Given the description of an element on the screen output the (x, y) to click on. 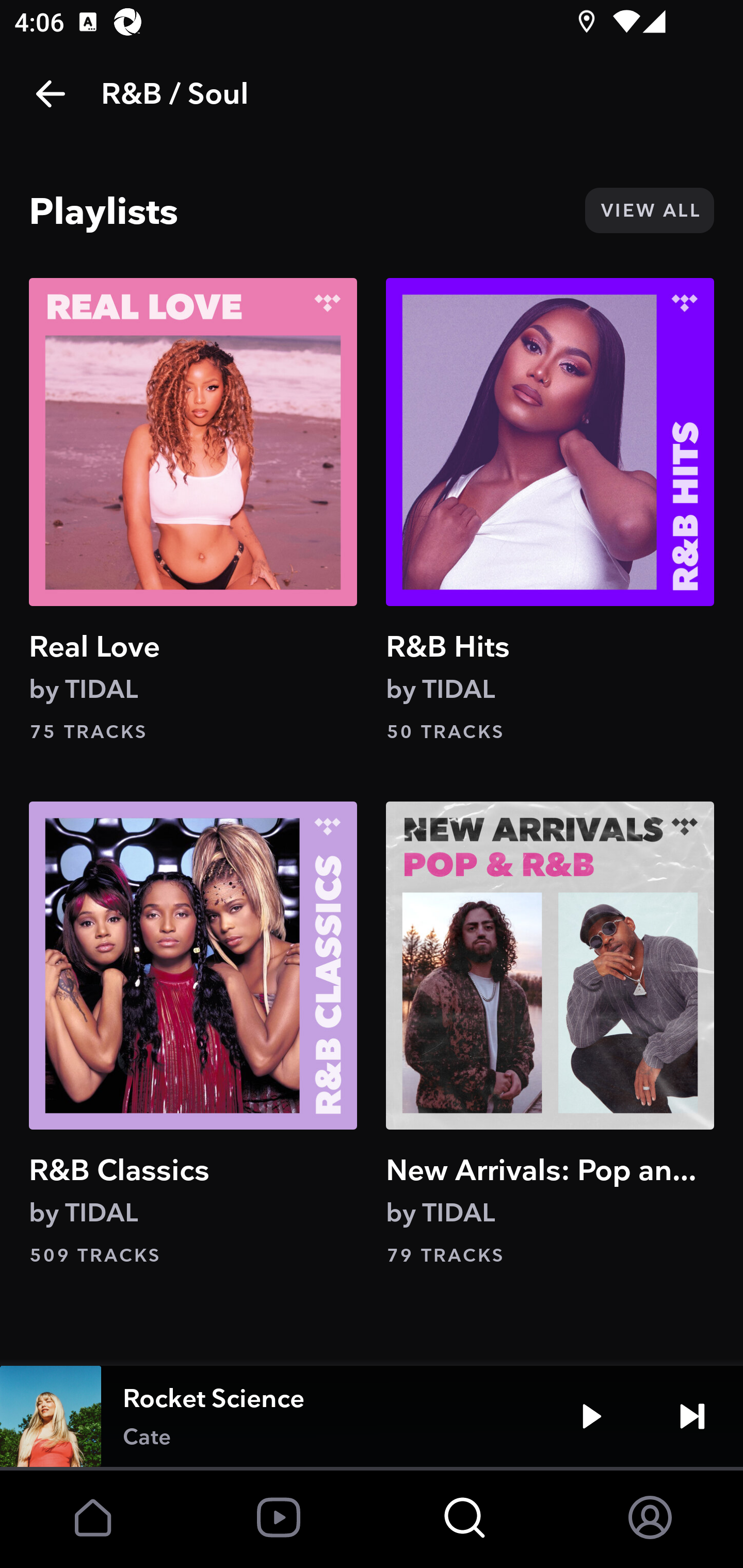
VIEW ALL (649, 210)
Real Love by TIDAL 75 TRACKS (192, 510)
R&B Hits by TIDAL 50 TRACKS (549, 510)
R&B Classics by TIDAL 509 TRACKS (192, 1033)
New Arrivals: Pop and R&B by TIDAL 79 TRACKS (549, 1033)
Rocket Science Cate Play (371, 1416)
Play (590, 1416)
